Given the description of an element on the screen output the (x, y) to click on. 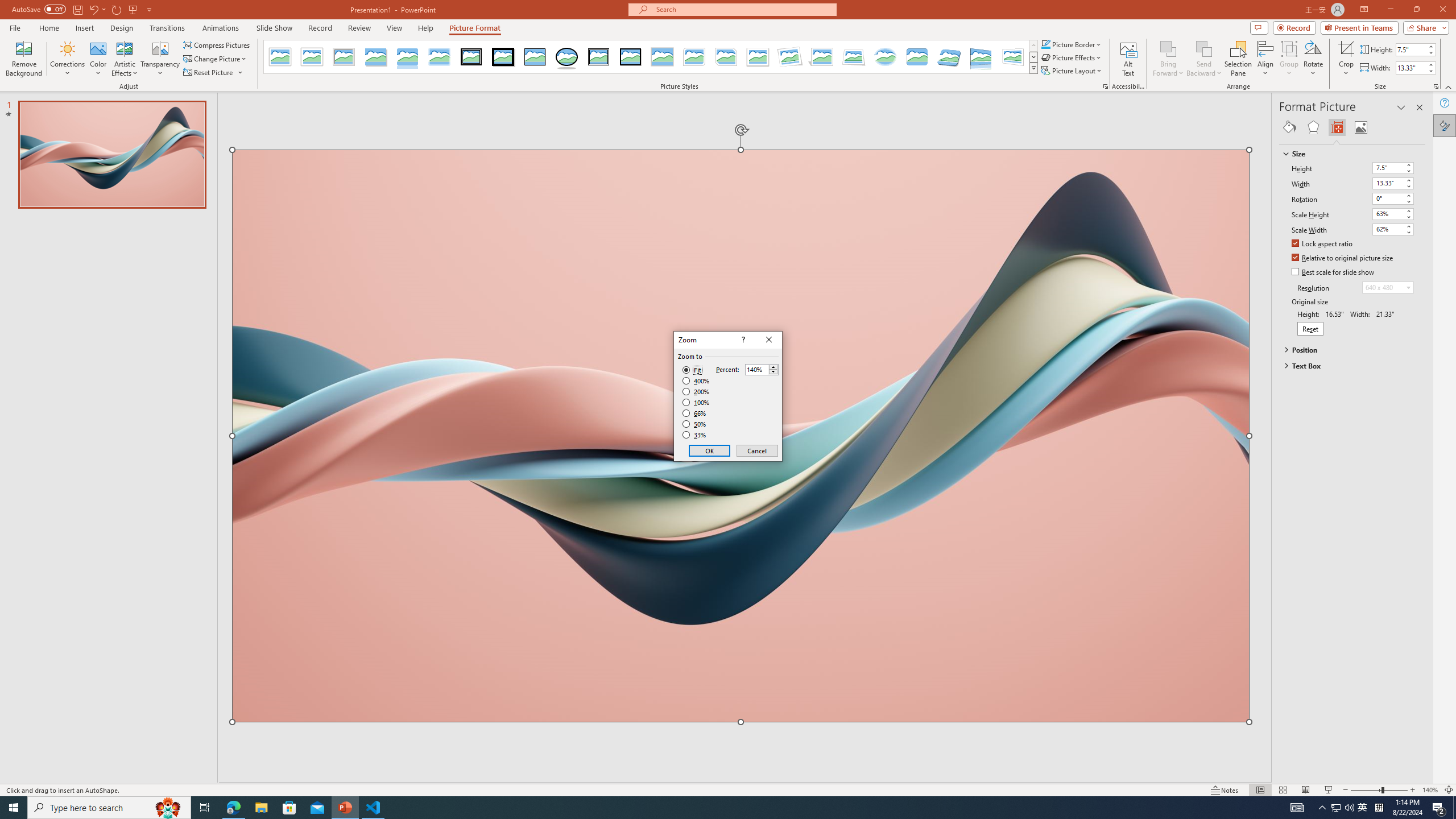
Align (1264, 58)
Center Shadow Rectangle (662, 56)
Remove Background (23, 58)
Drop Shadow Rectangle (375, 56)
